Given the description of an element on the screen output the (x, y) to click on. 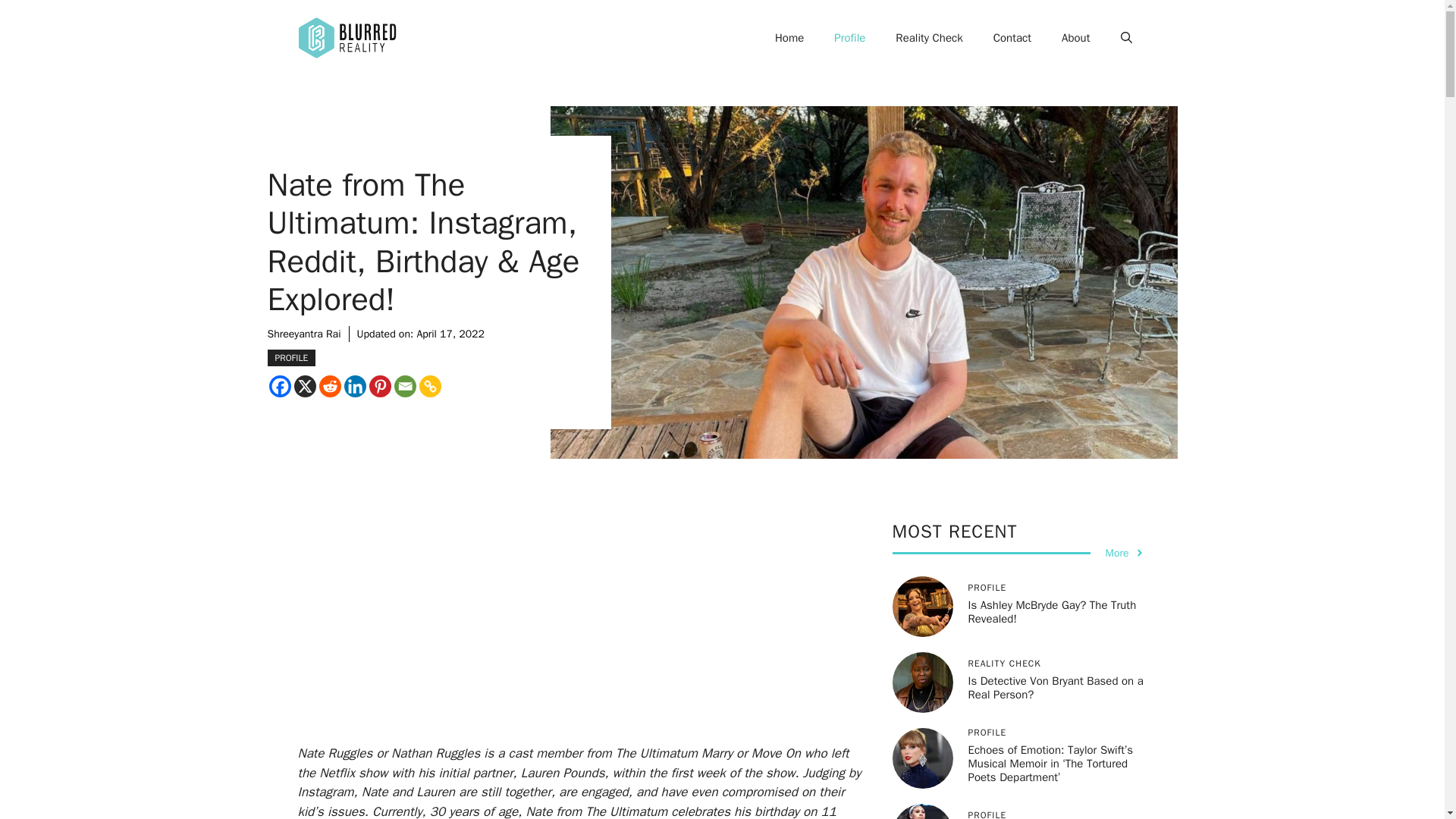
Reality Check (928, 37)
Shreeyantra Rai (303, 333)
Pinterest (379, 386)
Copy Link (430, 386)
Email (405, 386)
Home (789, 37)
PROFILE (290, 357)
Advertisement (600, 631)
Contact (1012, 37)
X (304, 386)
